Given the description of an element on the screen output the (x, y) to click on. 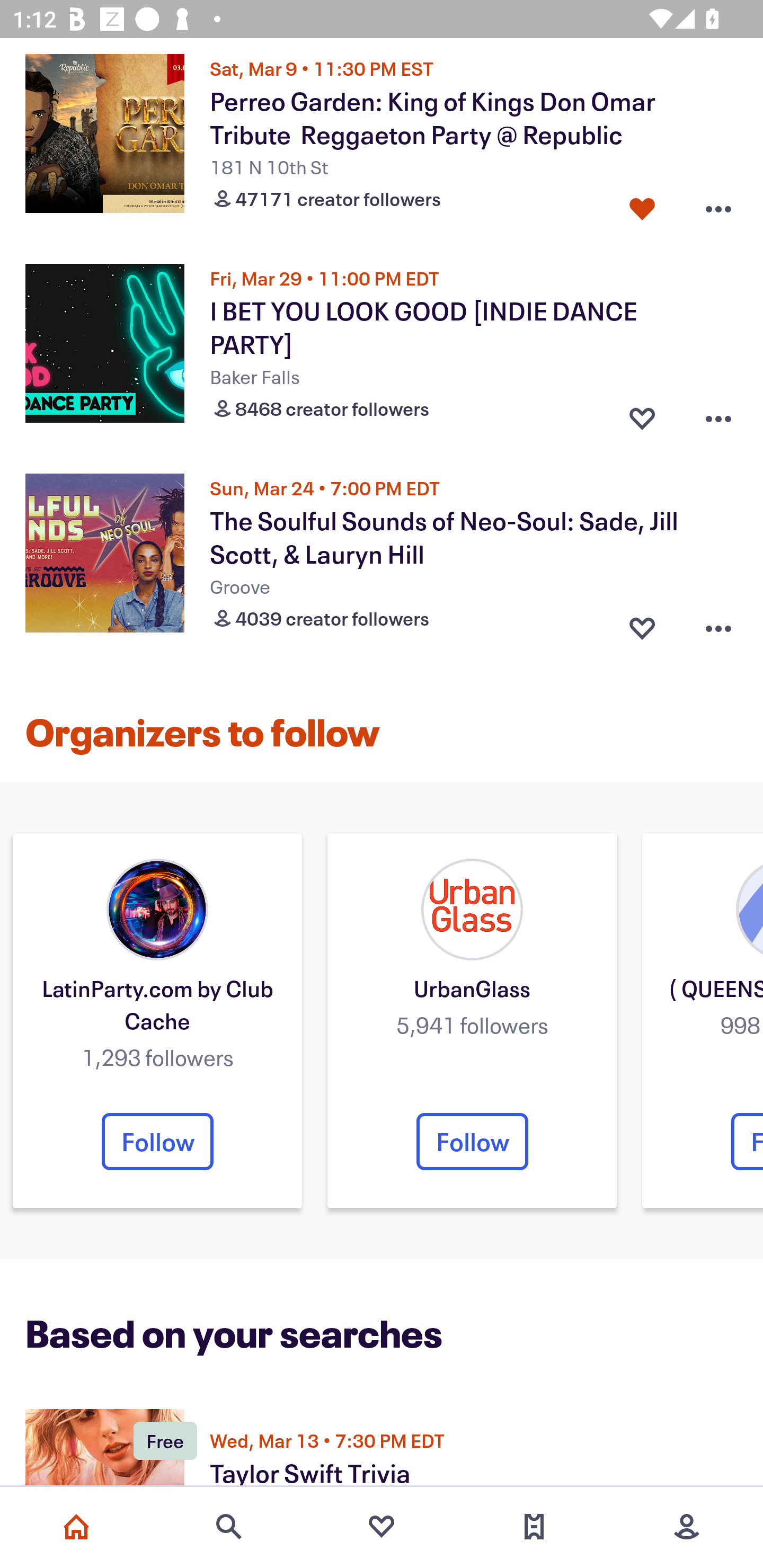
Favorite button (642, 204)
Overflow menu button (718, 204)
Favorite button (642, 414)
Overflow menu button (718, 414)
Favorite button (642, 624)
Overflow menu button (718, 624)
Follow Organizer's follow button (157, 1141)
Follow Organizer's follow button (471, 1141)
Home (76, 1526)
Search events (228, 1526)
Favorites (381, 1526)
Tickets (533, 1526)
More (686, 1526)
